Given the description of an element on the screen output the (x, y) to click on. 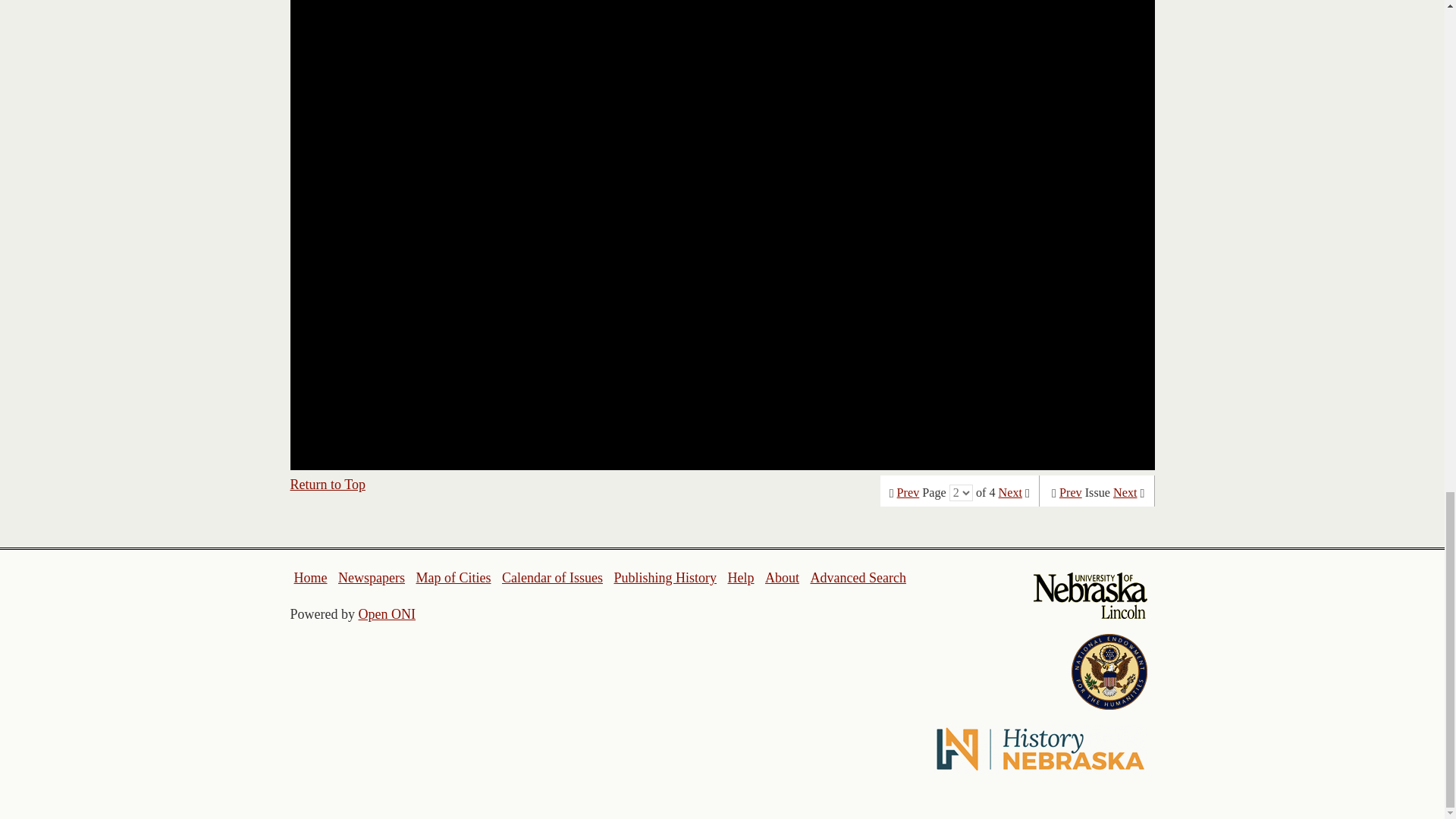
Calendar of Issues (552, 577)
Newspapers (370, 577)
Home (310, 577)
Next (1125, 492)
Next (1010, 492)
Publishing History (664, 577)
Help (740, 577)
Advanced Search (857, 577)
Map of Cities (452, 577)
Prev (908, 492)
Return to Top (327, 484)
Prev (1070, 492)
Open ONI (386, 613)
About (782, 577)
